Given the description of an element on the screen output the (x, y) to click on. 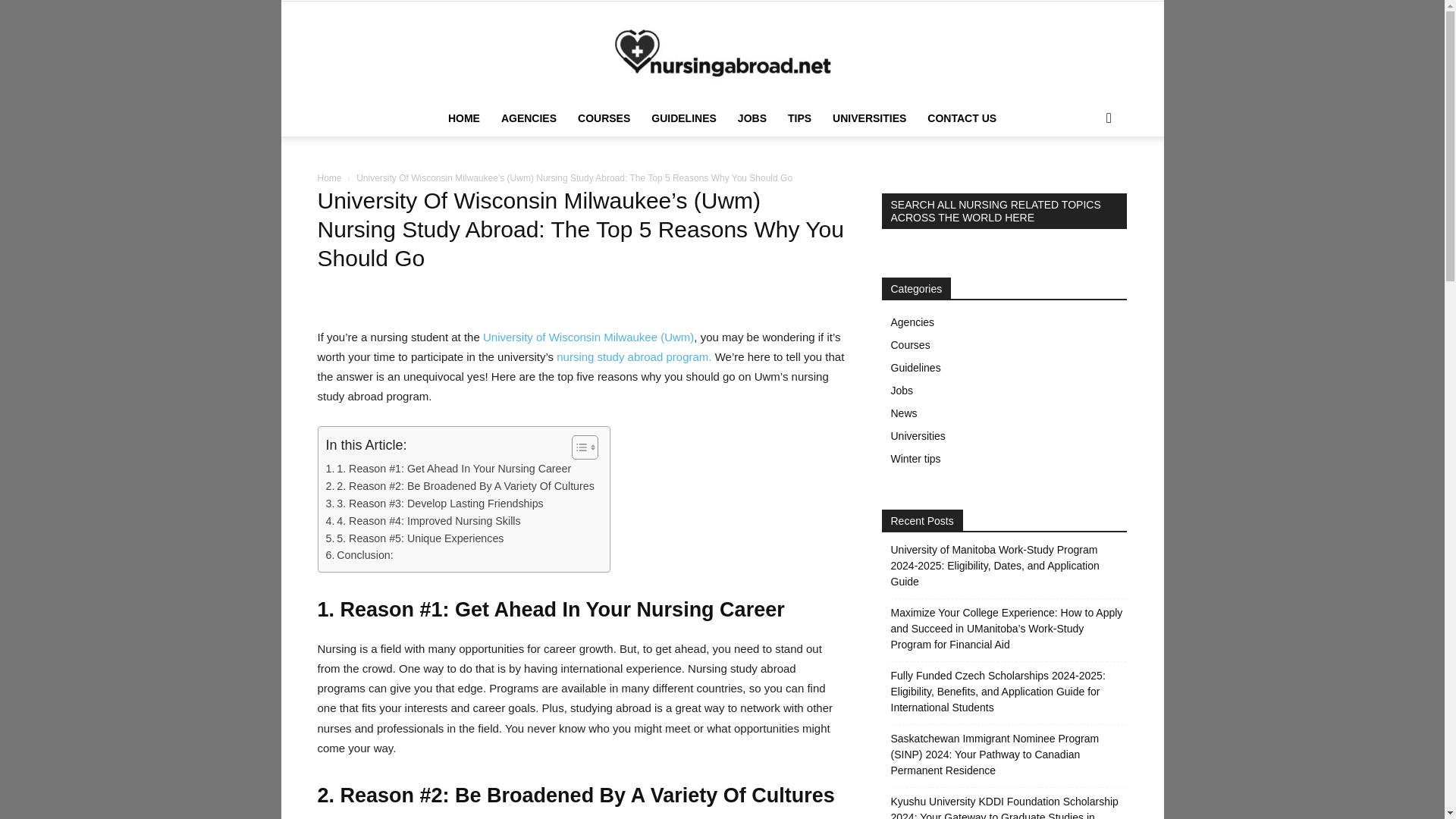
HOME (464, 117)
Home (328, 177)
UNIVERSITIES (869, 117)
Conclusion: (359, 555)
GUIDELINES (683, 117)
CONTACT US (962, 117)
COURSES (603, 117)
Conclusion: (359, 555)
nursing study abroad program. (633, 356)
Search (1085, 178)
